Given the description of an element on the screen output the (x, y) to click on. 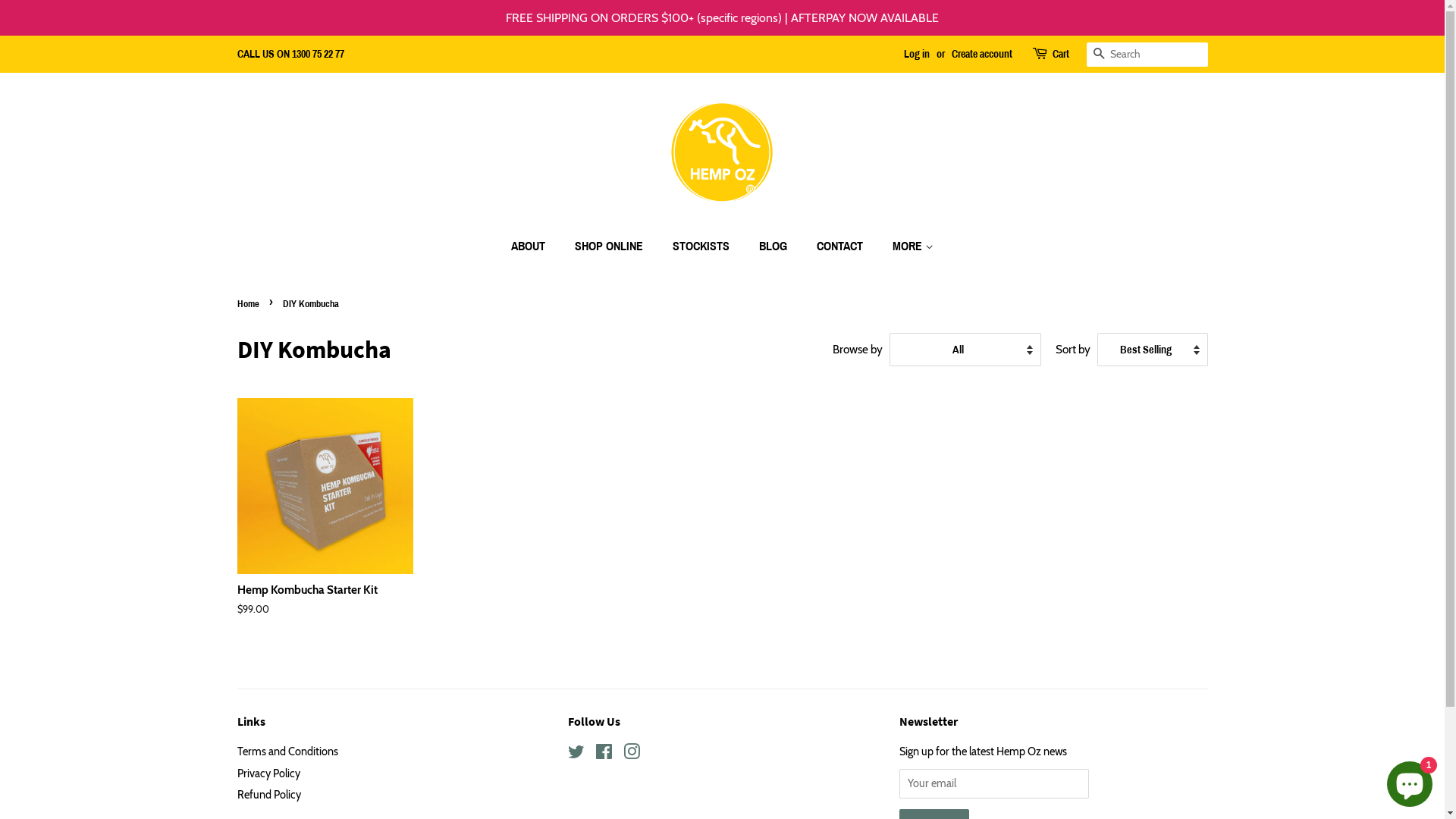
Instagram Element type: text (631, 754)
Create account Element type: text (980, 53)
Refund Policy Element type: text (268, 794)
Home Element type: text (249, 303)
BLOG Element type: text (774, 245)
ABOUT Element type: text (535, 245)
MORE Element type: text (907, 245)
SHOP ONLINE Element type: text (610, 245)
Log in Element type: text (916, 53)
CONTACT Element type: text (841, 245)
Twitter Element type: text (575, 754)
Privacy Policy Element type: text (267, 773)
Hemp Kombucha Starter Kit
Regular price
$99.00 Element type: text (324, 520)
Search Element type: text (1097, 54)
STOCKISTS Element type: text (702, 245)
Terms and Conditions Element type: text (286, 751)
Shopify online store chat Element type: hover (1409, 780)
Cart Element type: text (1060, 54)
Facebook Element type: text (603, 754)
